Given the description of an element on the screen output the (x, y) to click on. 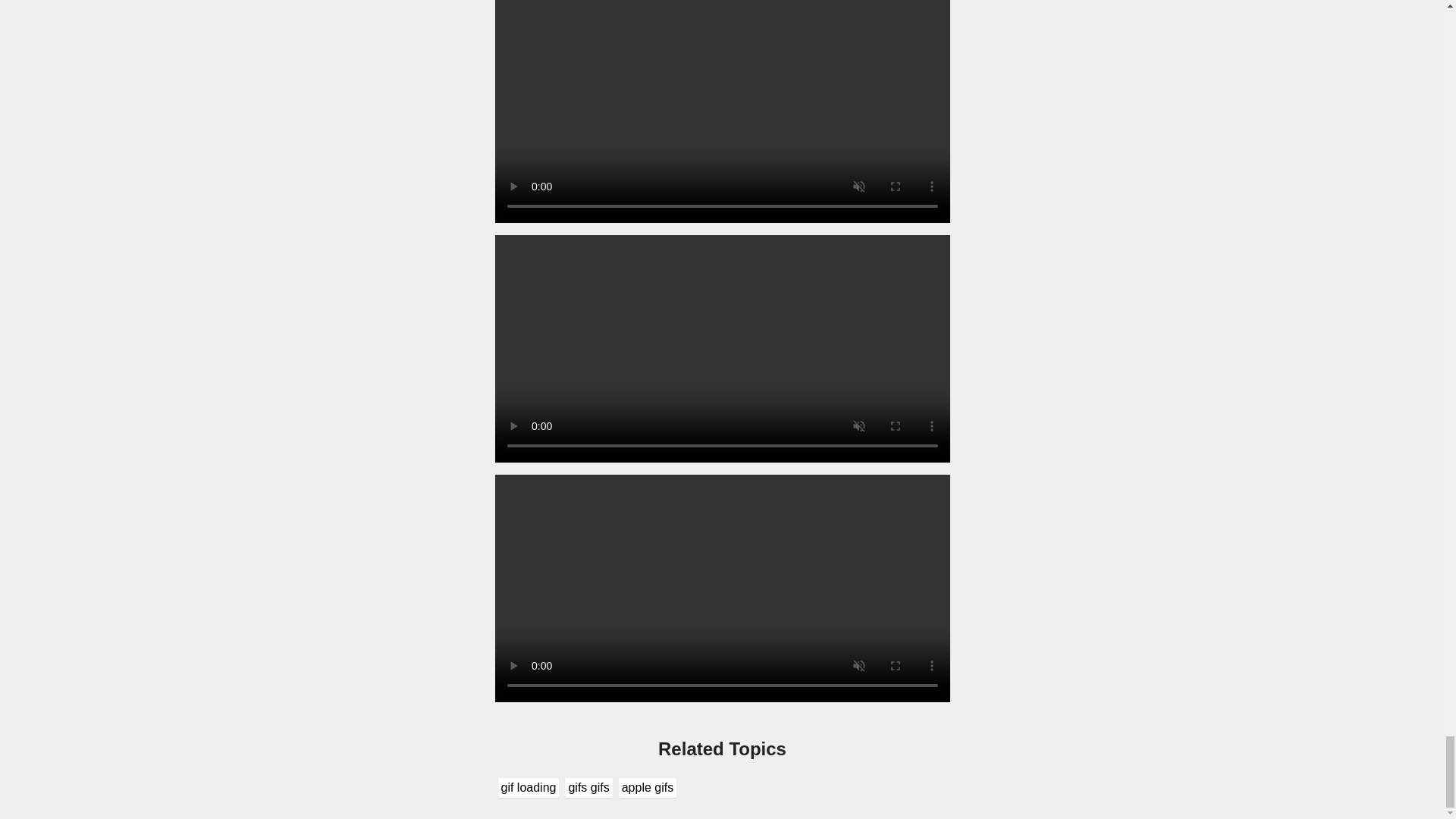
gif loading (528, 787)
gifs gifs (587, 787)
apple gifs (647, 787)
